Given the description of an element on the screen output the (x, y) to click on. 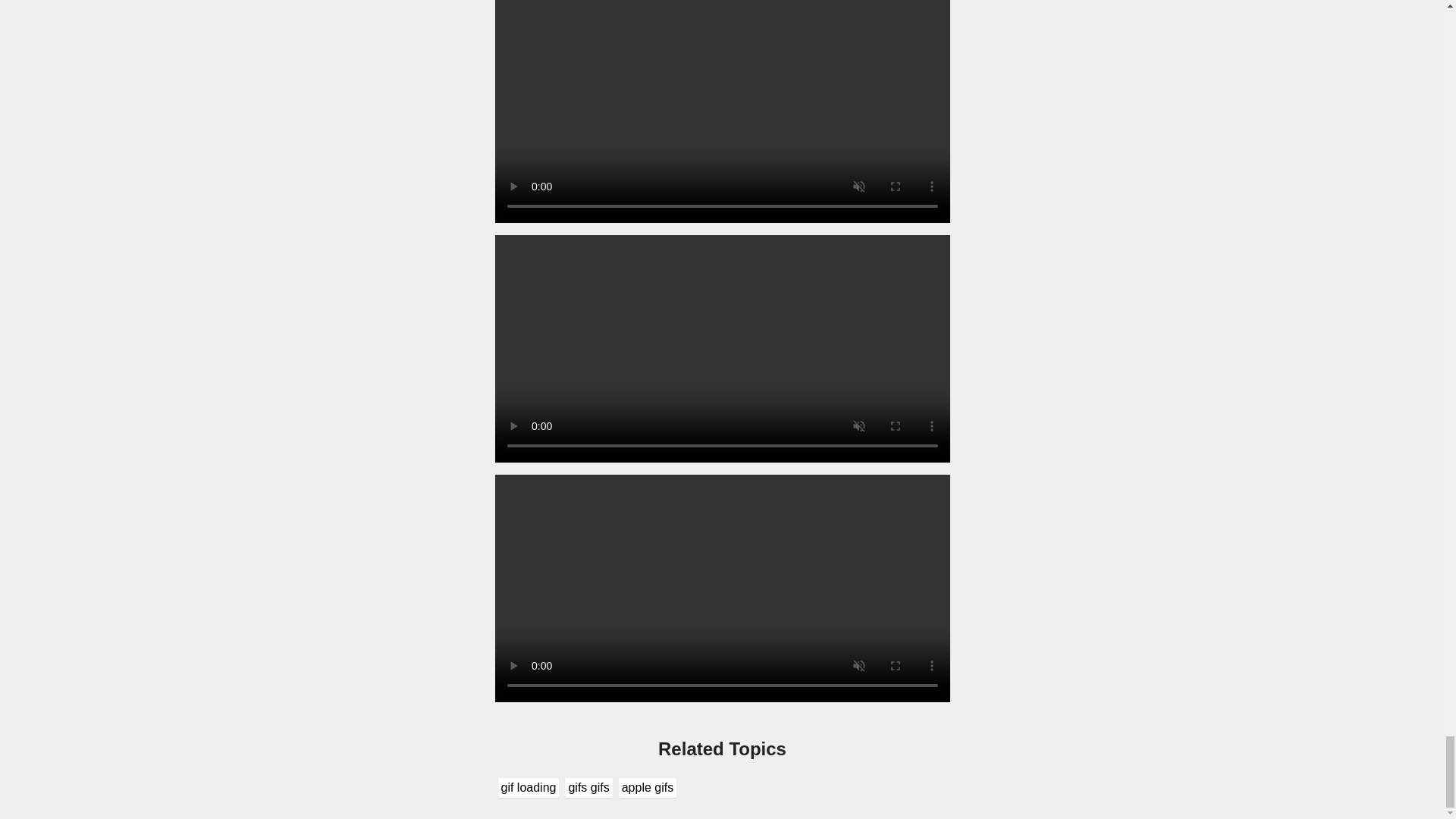
gif loading (528, 787)
gifs gifs (587, 787)
apple gifs (647, 787)
